Given the description of an element on the screen output the (x, y) to click on. 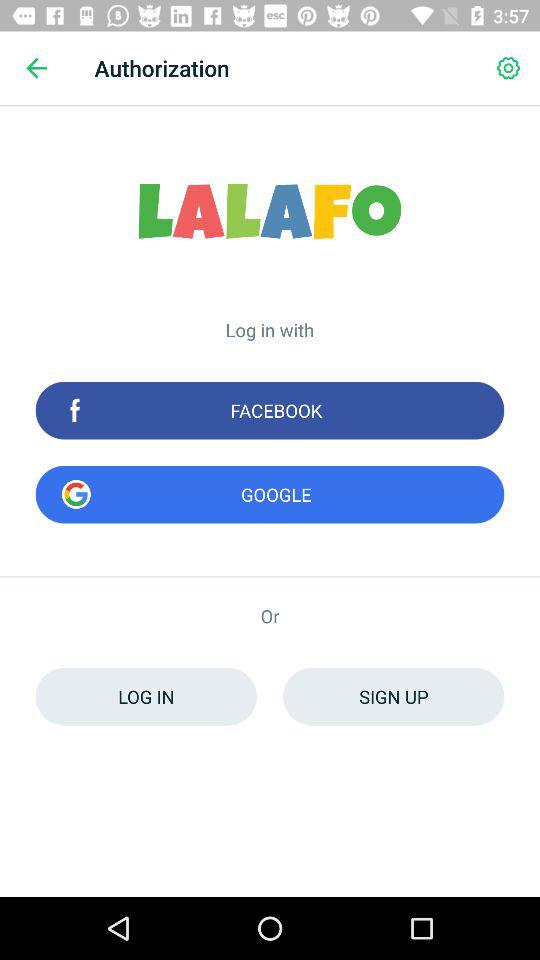
tap the sign up at the bottom right corner (393, 696)
